Given the description of an element on the screen output the (x, y) to click on. 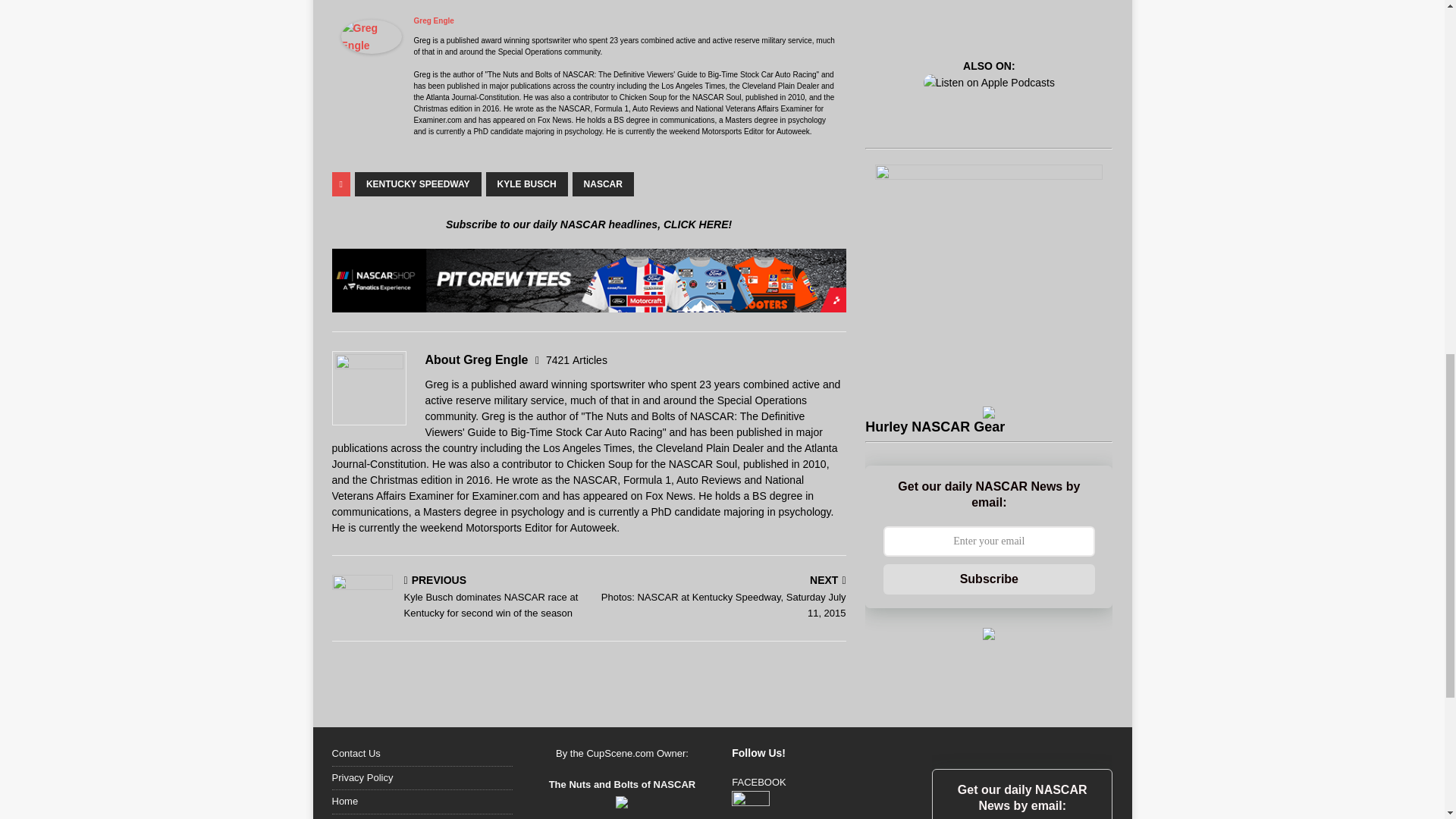
More articles written by Greg Engle' (576, 359)
KYLE BUSCH (526, 183)
Subscribe to our daily NASCAR headlines, CLICK HERE! (588, 224)
NASCAR (602, 183)
Greg Engle (370, 45)
KENTUCKY SPEEDWAY (418, 183)
7421 Articles (576, 359)
Greg Engle (433, 20)
